Given the description of an element on the screen output the (x, y) to click on. 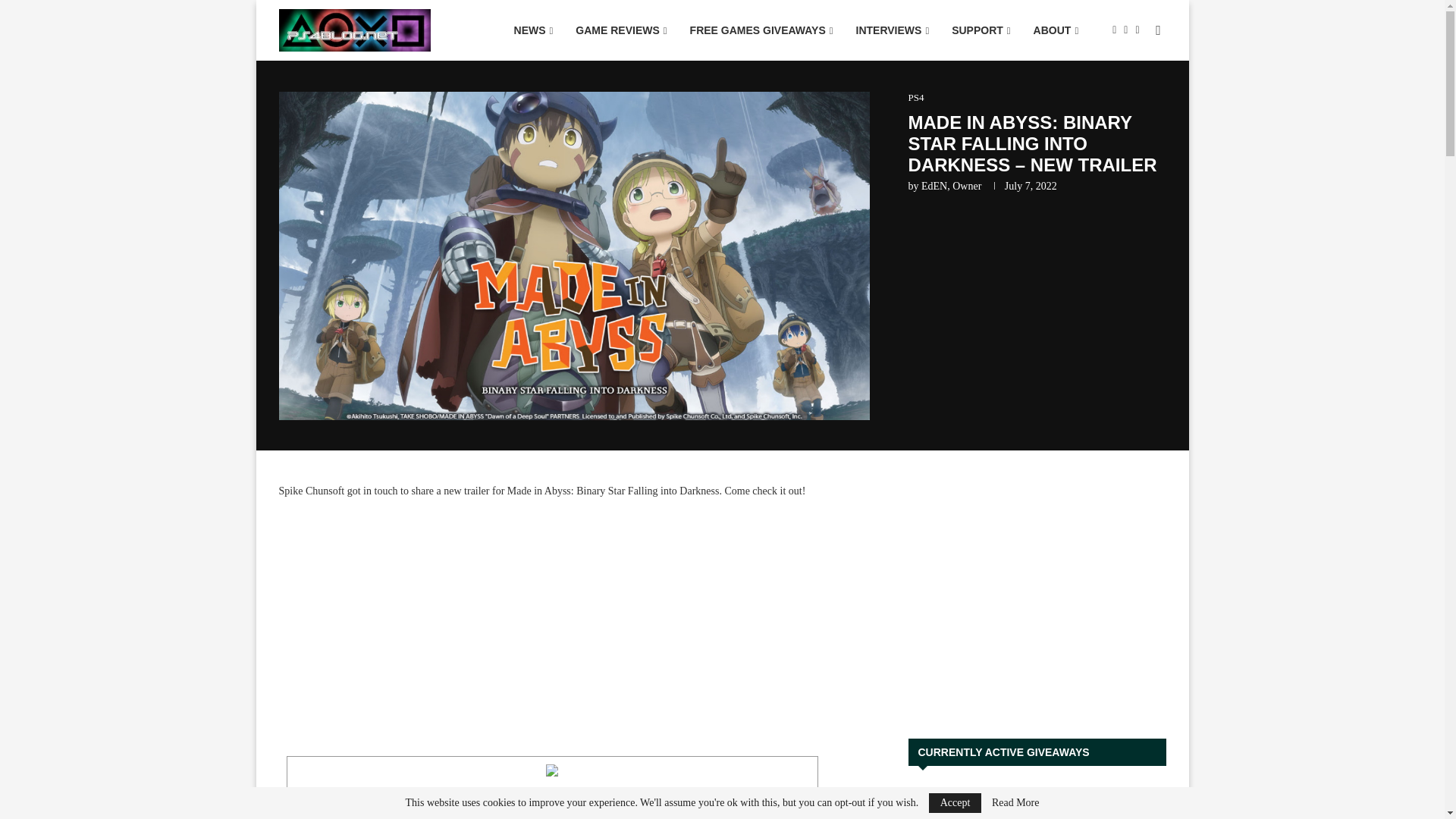
GAME REVIEWS (621, 30)
INTERVIEWS (892, 30)
NEWS (533, 30)
FREE GAMES GIVEAWAYS (761, 30)
